Given the description of an element on the screen output the (x, y) to click on. 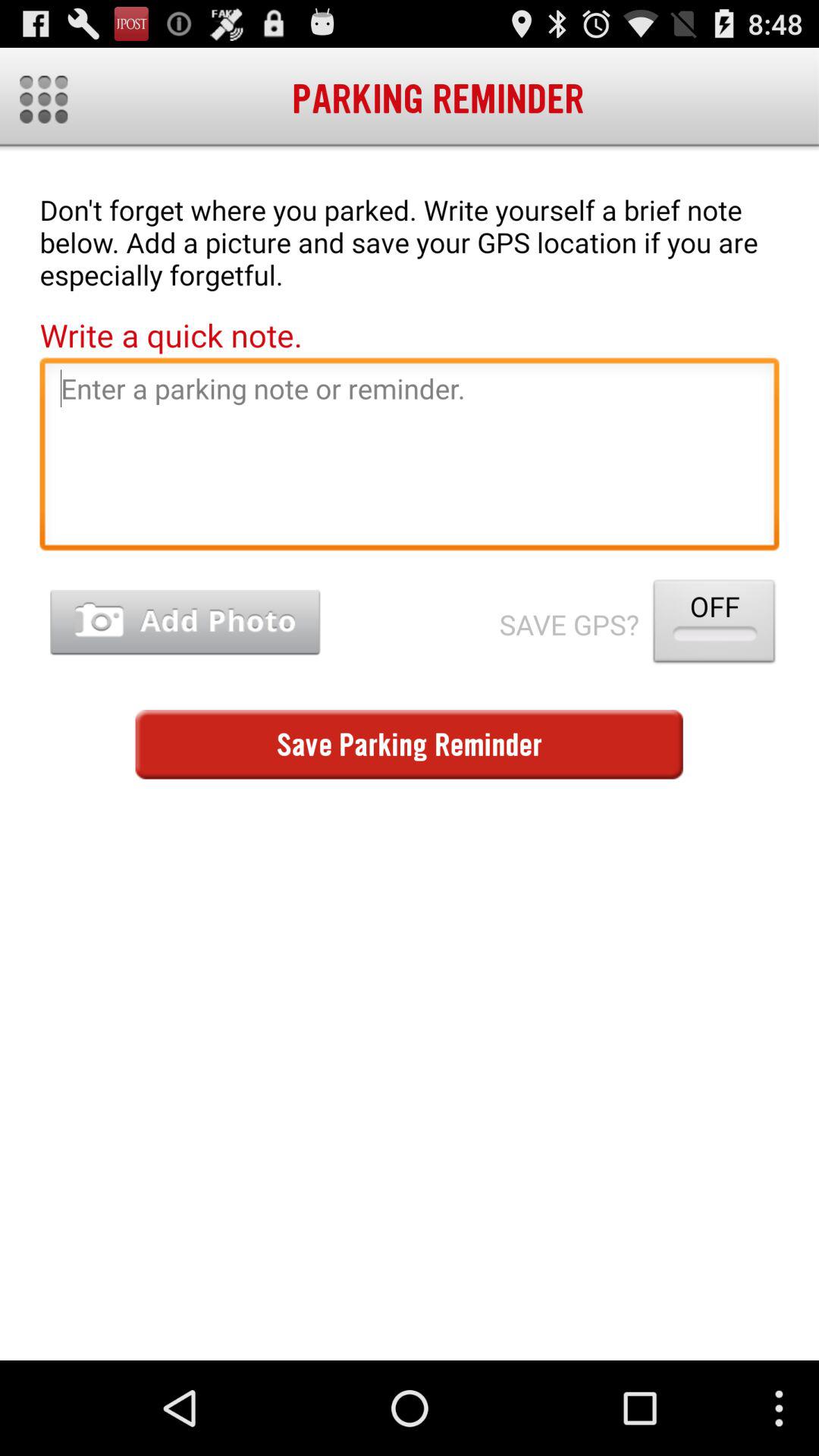
click icon next to save gps? app (185, 622)
